Given the description of an element on the screen output the (x, y) to click on. 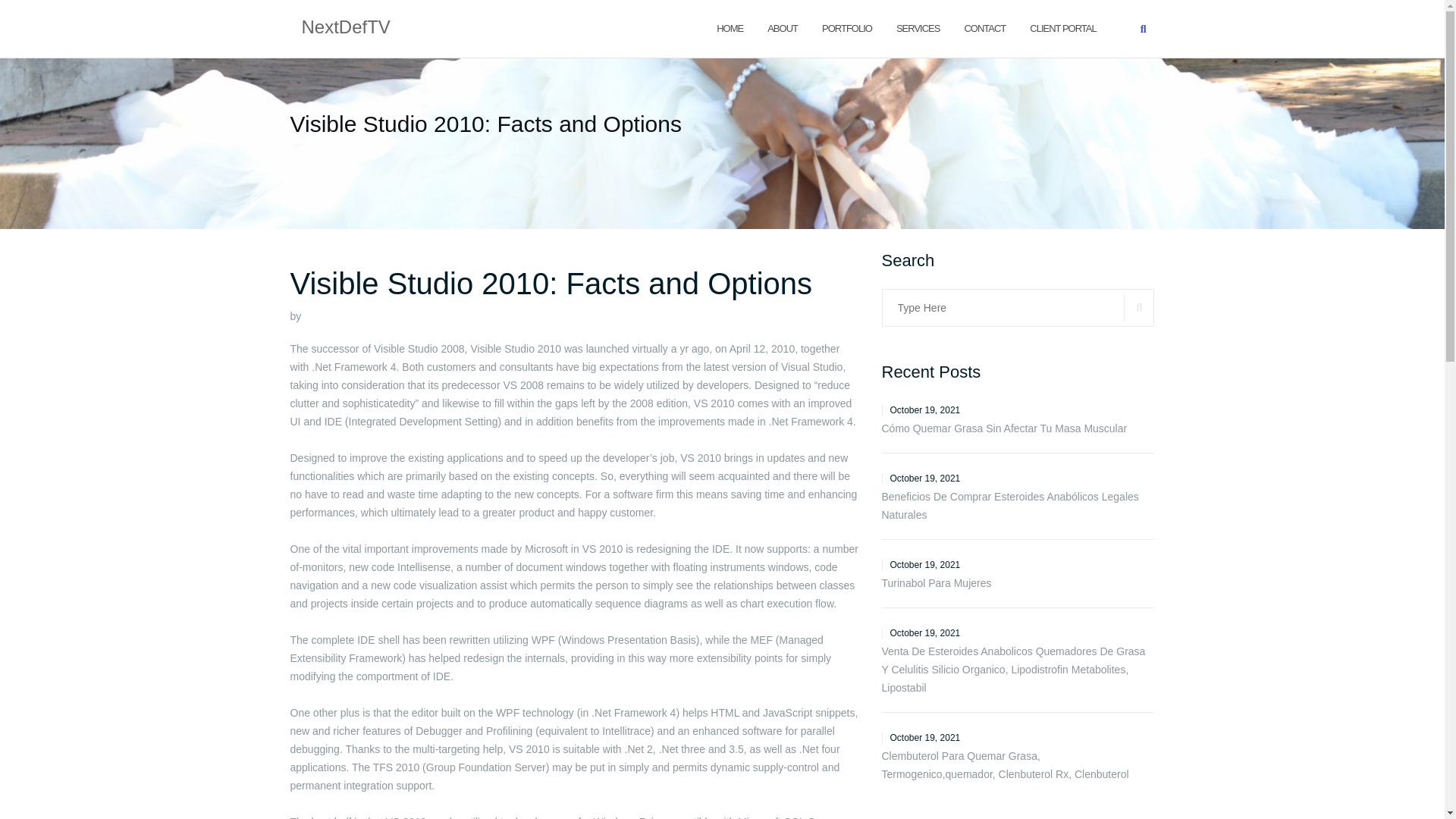
Contact (984, 28)
Visible Studio 2010: Facts and Options (550, 283)
NextDefTV (345, 28)
CONTACT (984, 28)
CLIENT PORTAL (1062, 28)
Services (918, 28)
PORTFOLIO (847, 28)
SERVICES (918, 28)
Portfolio (847, 28)
Client Portal (1062, 28)
